Given the description of an element on the screen output the (x, y) to click on. 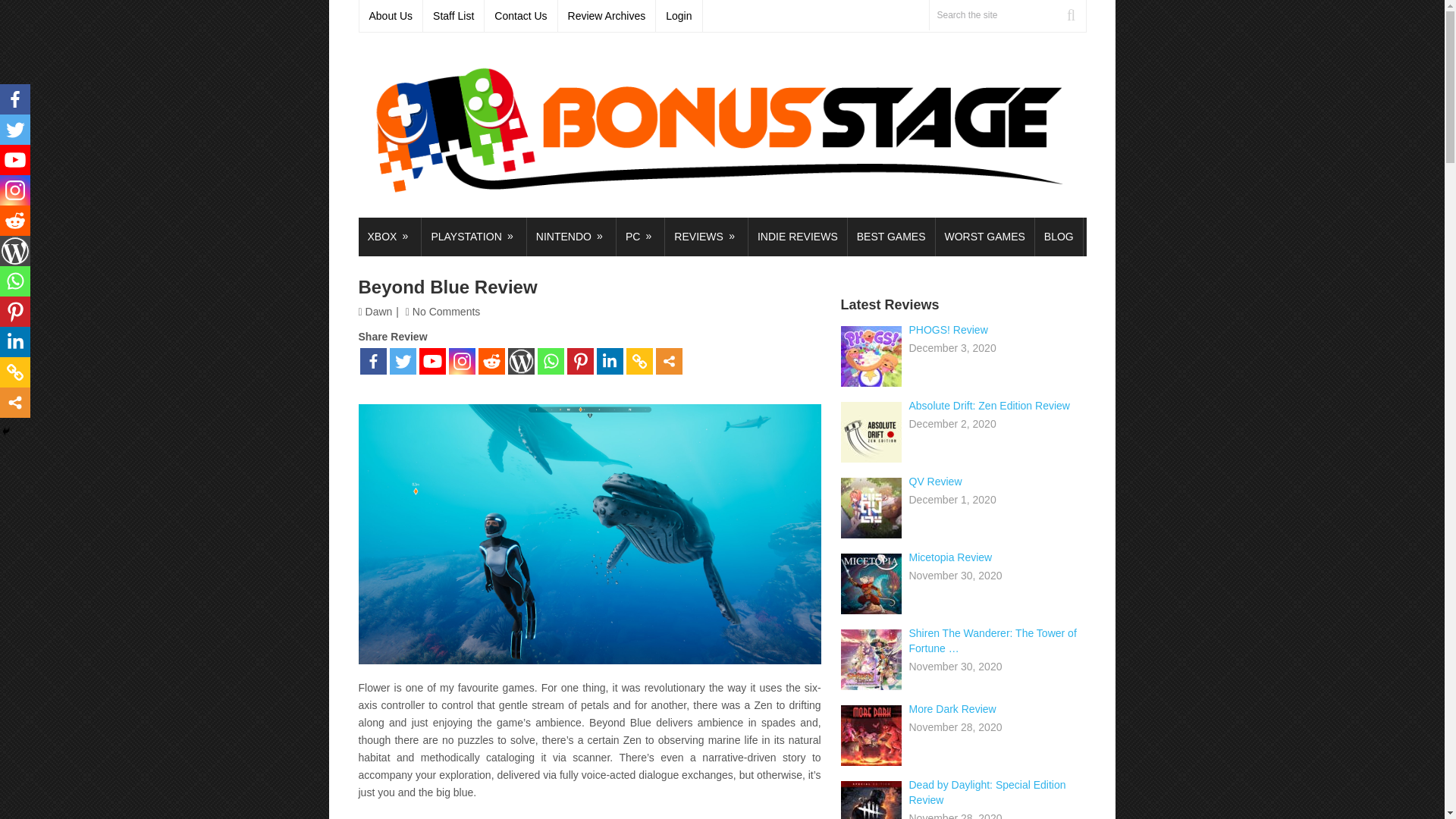
Review Archives (606, 15)
XBOX (389, 236)
PLAYSTATION (473, 236)
REVIEWS (706, 236)
NINTENDO (571, 236)
PC (639, 236)
Login (678, 15)
Contact Us (520, 15)
About Us (391, 15)
Staff List (453, 15)
